Given the description of an element on the screen output the (x, y) to click on. 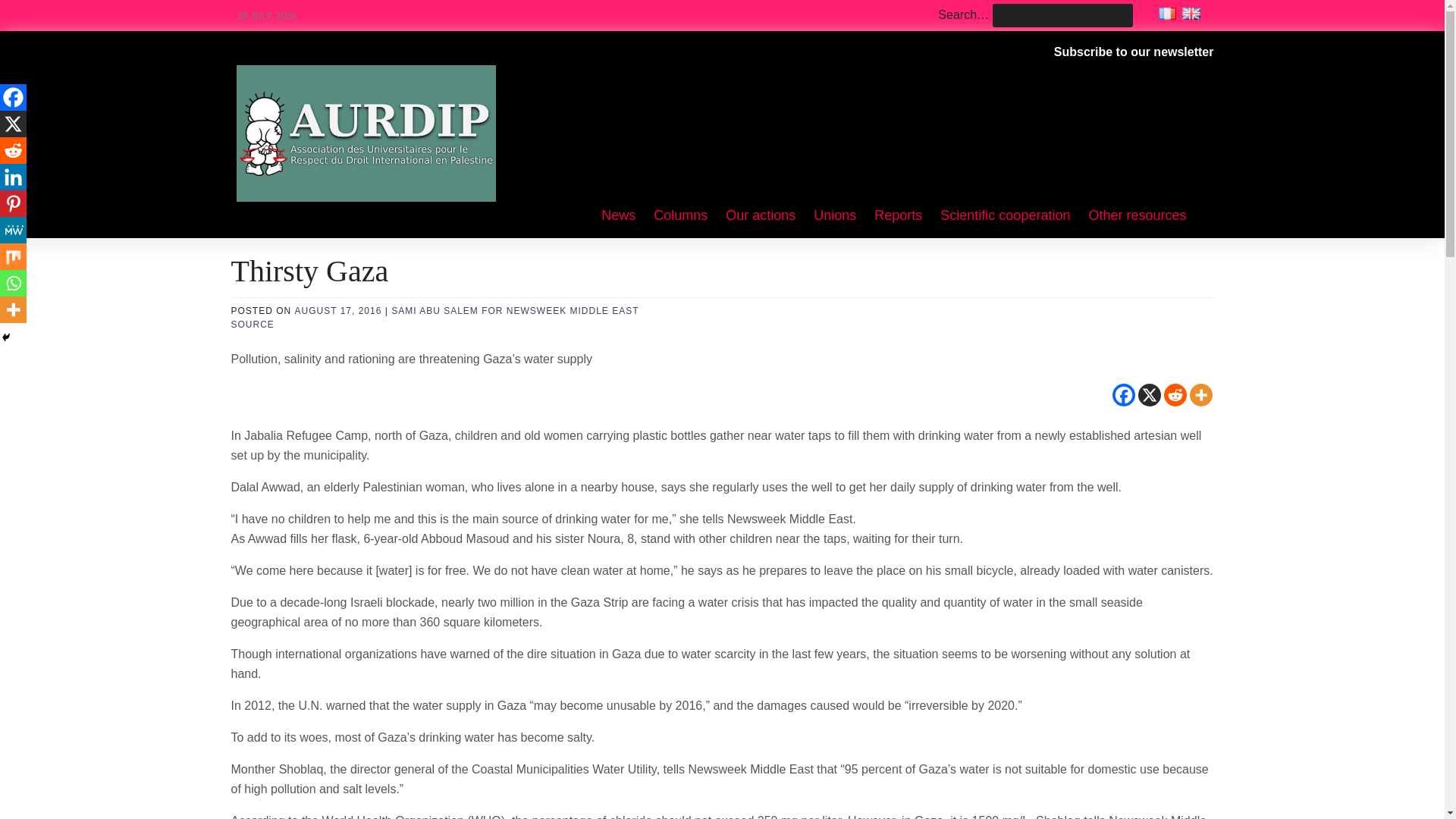
More (1200, 395)
Subscribe to our newsletter (1134, 51)
Pinterest (13, 203)
Unions (834, 215)
Aurdip (285, 83)
SAMI ABU SALEM FOR NEWSWEEK MIDDLE EAST (515, 310)
Our actions (760, 215)
Reddit (13, 150)
SOURCE (251, 324)
X (1148, 395)
AUGUST 17, 2016 (338, 310)
X (13, 123)
Hide (5, 337)
MeWe (13, 230)
Other resources (1136, 215)
